Given the description of an element on the screen output the (x, y) to click on. 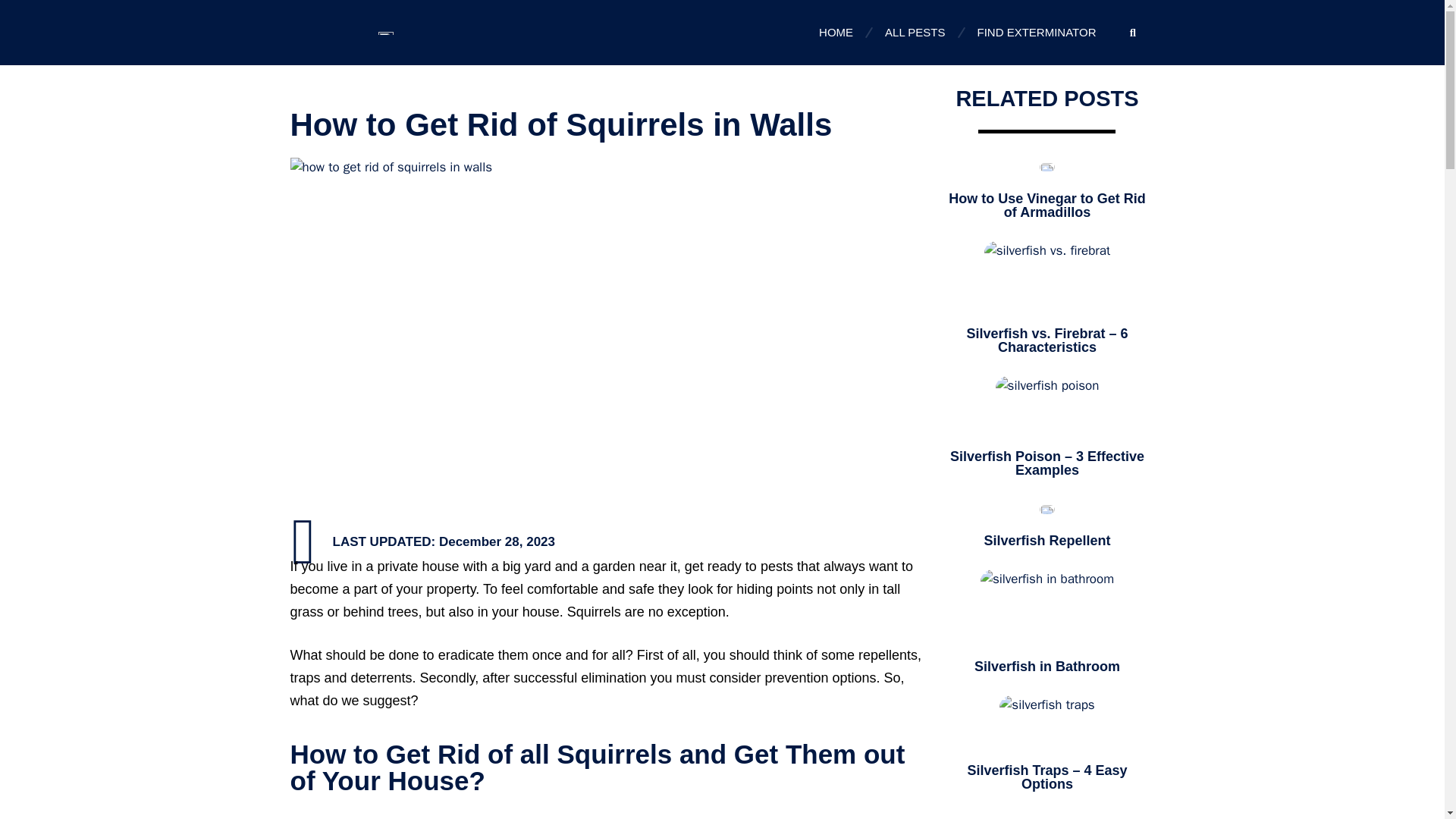
ALL PESTS (914, 32)
FIND EXTERMINATOR (1037, 32)
HOME (835, 32)
How to Use Vinegar to Get Rid of Armadillos (1047, 205)
Silverfish in Bathroom (1046, 666)
Silverfish Repellent (1046, 540)
